Given the description of an element on the screen output the (x, y) to click on. 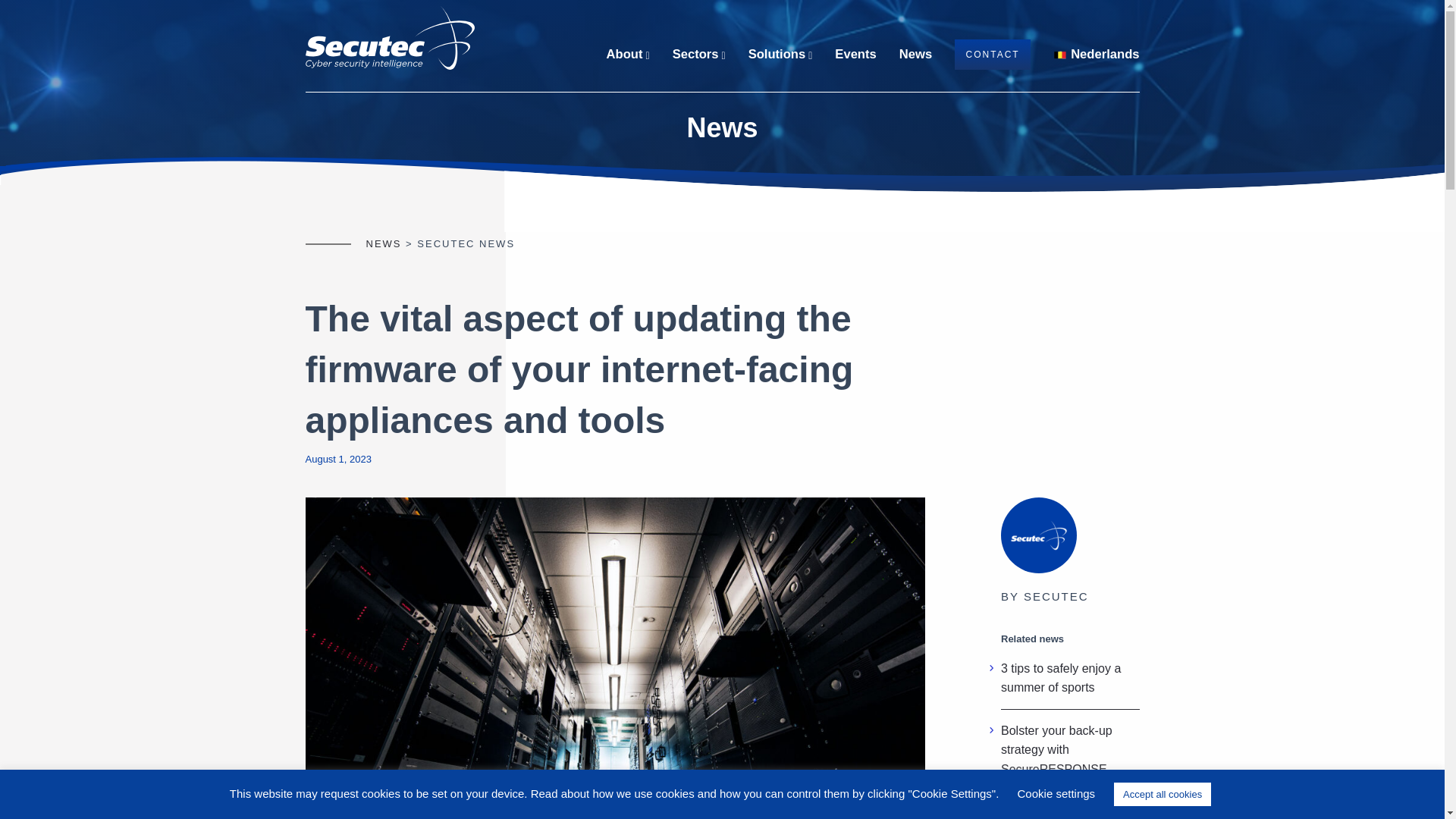
3 tips to safely enjoy a summer of sports (1061, 677)
Secutec (389, 36)
Go to News. (383, 243)
News (915, 54)
About (628, 54)
Sectors (698, 54)
Solutions (780, 54)
Nederlands (1095, 54)
CONTACT (992, 54)
NEWS (383, 243)
Events (855, 54)
